Given the description of an element on the screen output the (x, y) to click on. 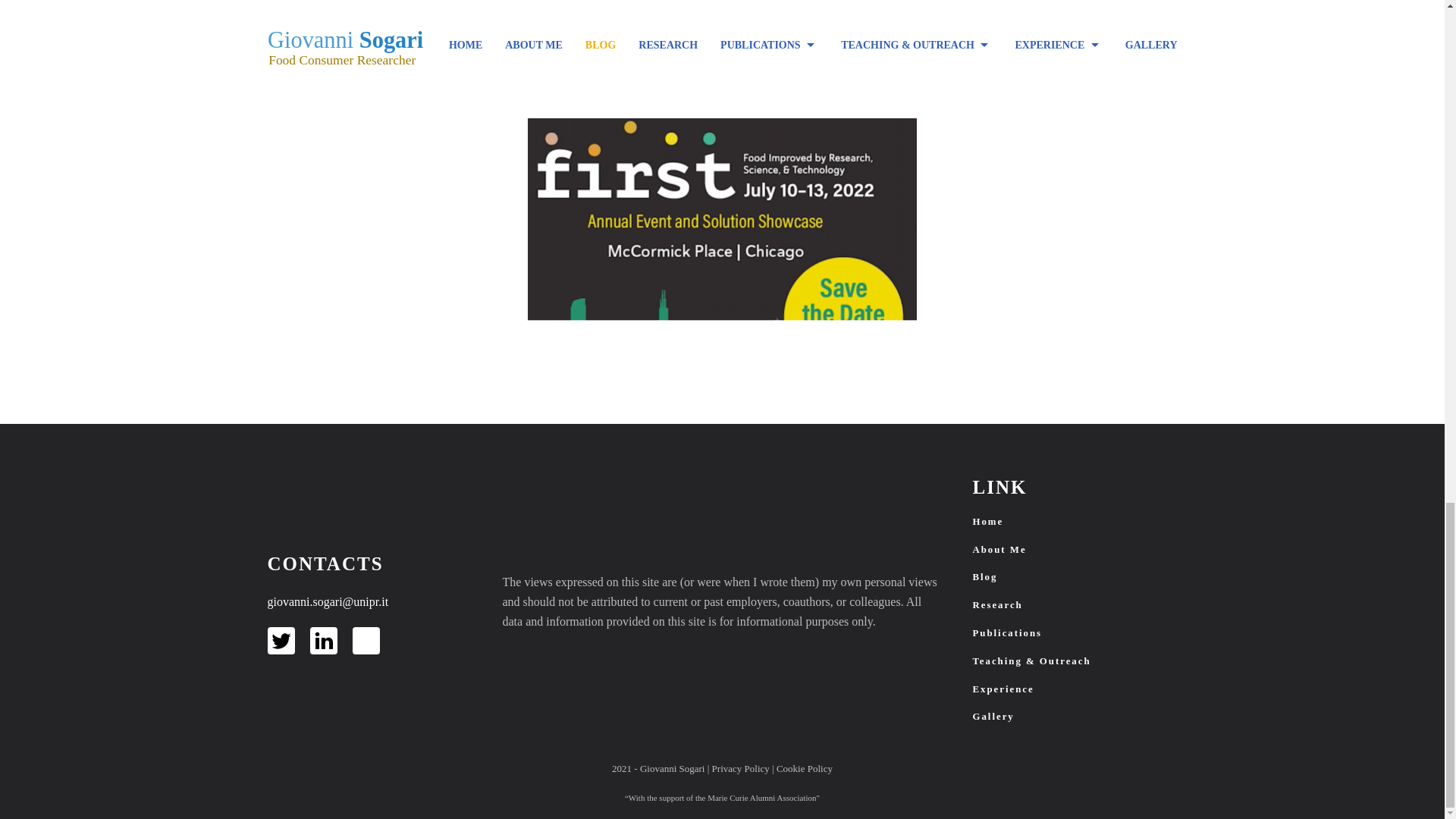
Home (1074, 521)
Blog (1074, 577)
Experience (1074, 689)
Research (1074, 605)
Privacy Policy (740, 767)
Cookie Policy (804, 767)
Gallery (1074, 716)
Publications (1074, 633)
About Me (1074, 550)
